Given the description of an element on the screen output the (x, y) to click on. 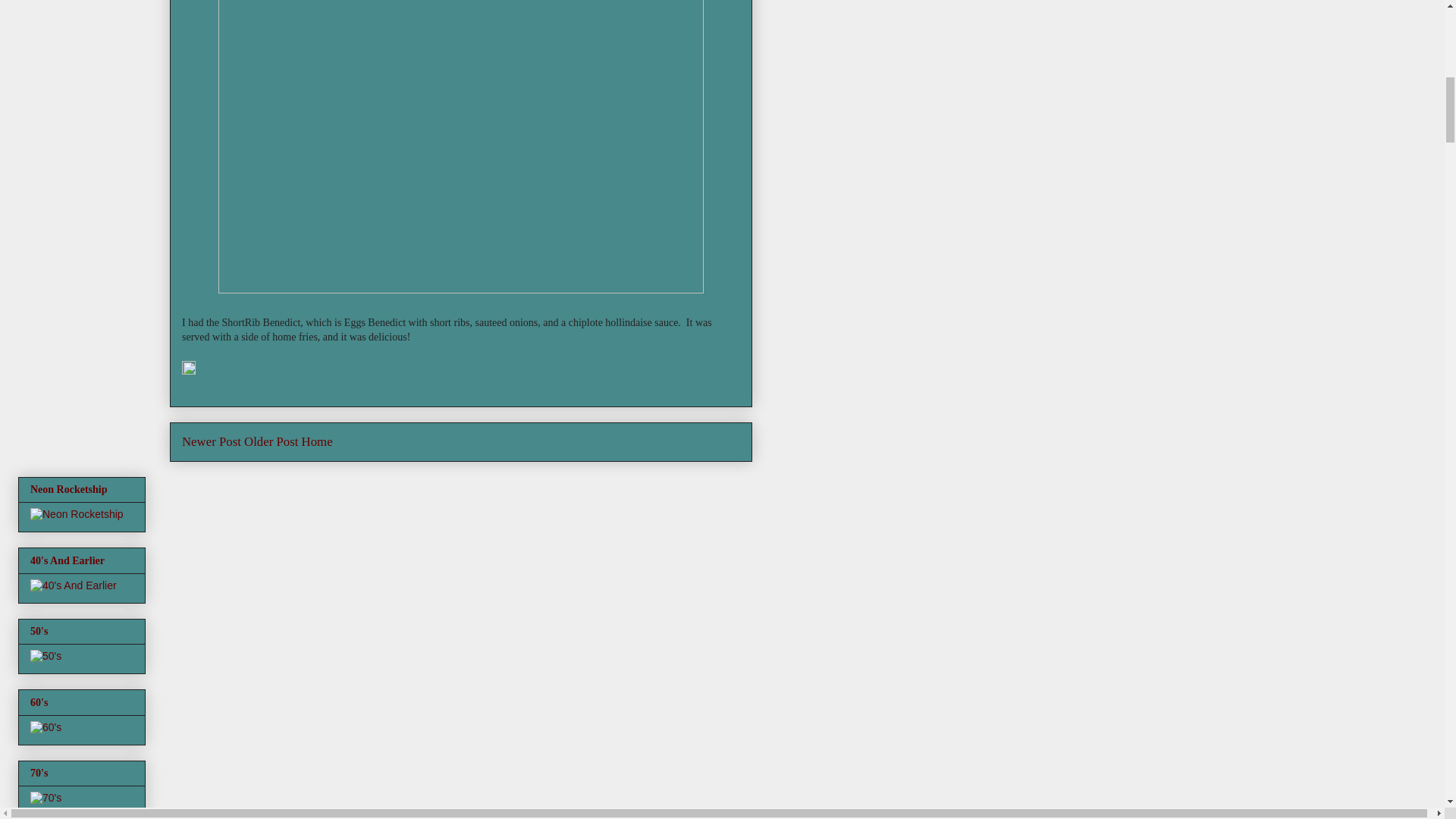
Older Post (271, 441)
Newer Post (211, 441)
Older Post (271, 441)
Newer Post (211, 441)
Edit Post (188, 370)
Home (317, 441)
